Given the description of an element on the screen output the (x, y) to click on. 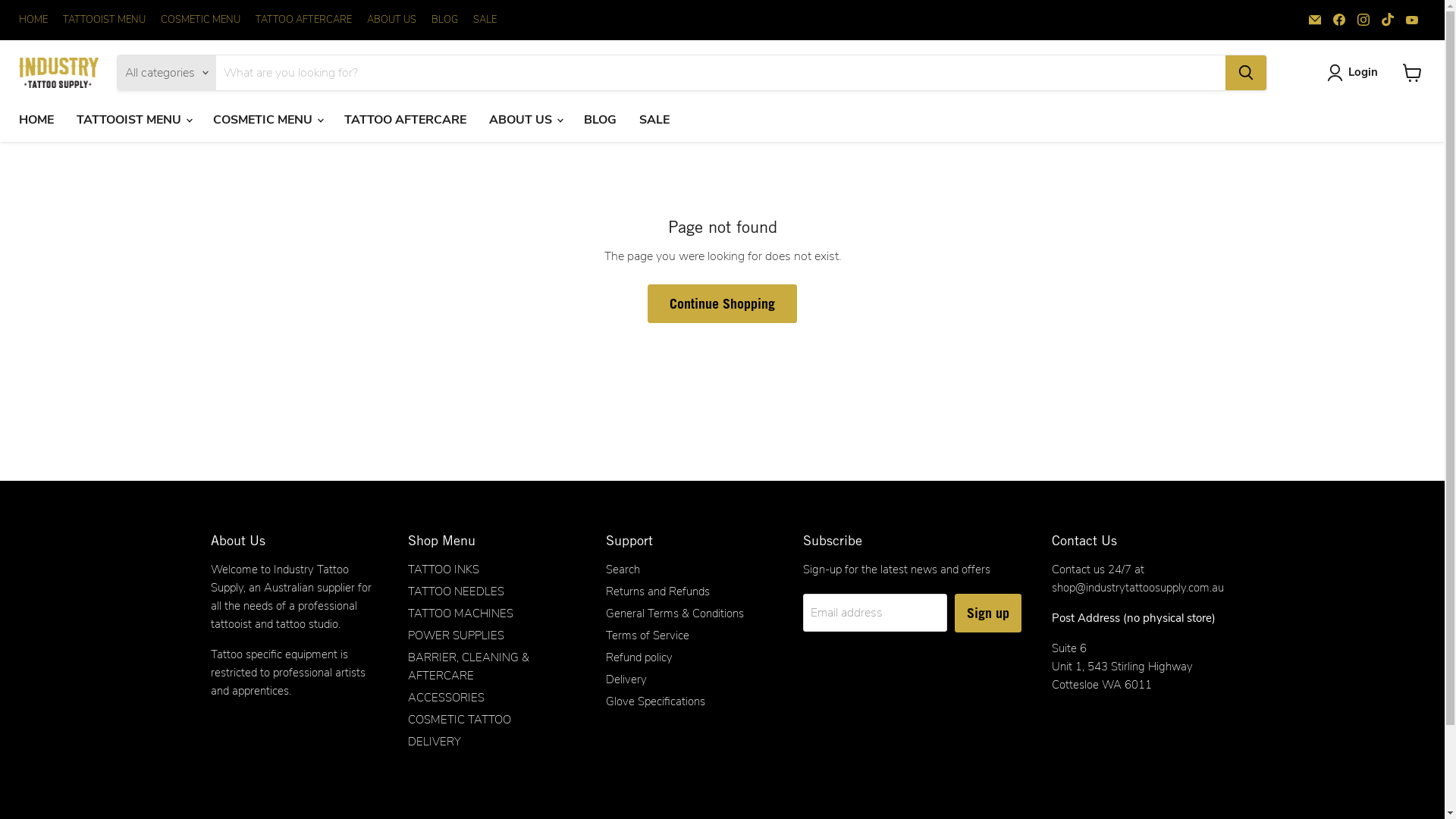
Returns and Refunds Element type: text (657, 591)
TATTOO AFTERCARE Element type: text (404, 119)
HOME Element type: text (32, 19)
TATTOO NEEDLES Element type: text (455, 591)
TATTOO MACHINES Element type: text (460, 613)
Search Element type: text (622, 569)
BLOG Element type: text (444, 19)
Glove Specifications Element type: text (654, 701)
SALE Element type: text (484, 19)
Sign up Element type: text (987, 612)
TATTOO INKS Element type: text (443, 569)
Delivery Element type: text (625, 679)
Continue Shopping Element type: text (722, 303)
ABOUT US Element type: text (391, 19)
COSMETIC MENU Element type: text (200, 19)
BARRIER, CLEANING & AFTERCARE Element type: text (468, 666)
Find us on Instagram Element type: text (1363, 19)
Login Element type: text (1355, 72)
Email Industry Tattoo Supply Element type: text (1314, 19)
General Terms & Conditions Element type: text (674, 613)
COSMETIC TATTOO Element type: text (459, 719)
Refund policy Element type: text (638, 657)
Find us on YouTube Element type: text (1411, 19)
TATTOOIST MENU Element type: text (103, 19)
SALE Element type: text (653, 119)
BLOG Element type: text (599, 119)
POWER SUPPLIES Element type: text (455, 635)
Find us on TikTok Element type: text (1387, 19)
DELIVERY Element type: text (434, 741)
View cart Element type: text (1412, 72)
Find us on Facebook Element type: text (1338, 19)
TATTOO AFTERCARE Element type: text (303, 19)
ACCESSORIES Element type: text (445, 697)
HOME Element type: text (36, 119)
Terms of Service Element type: text (646, 635)
